Given the description of an element on the screen output the (x, y) to click on. 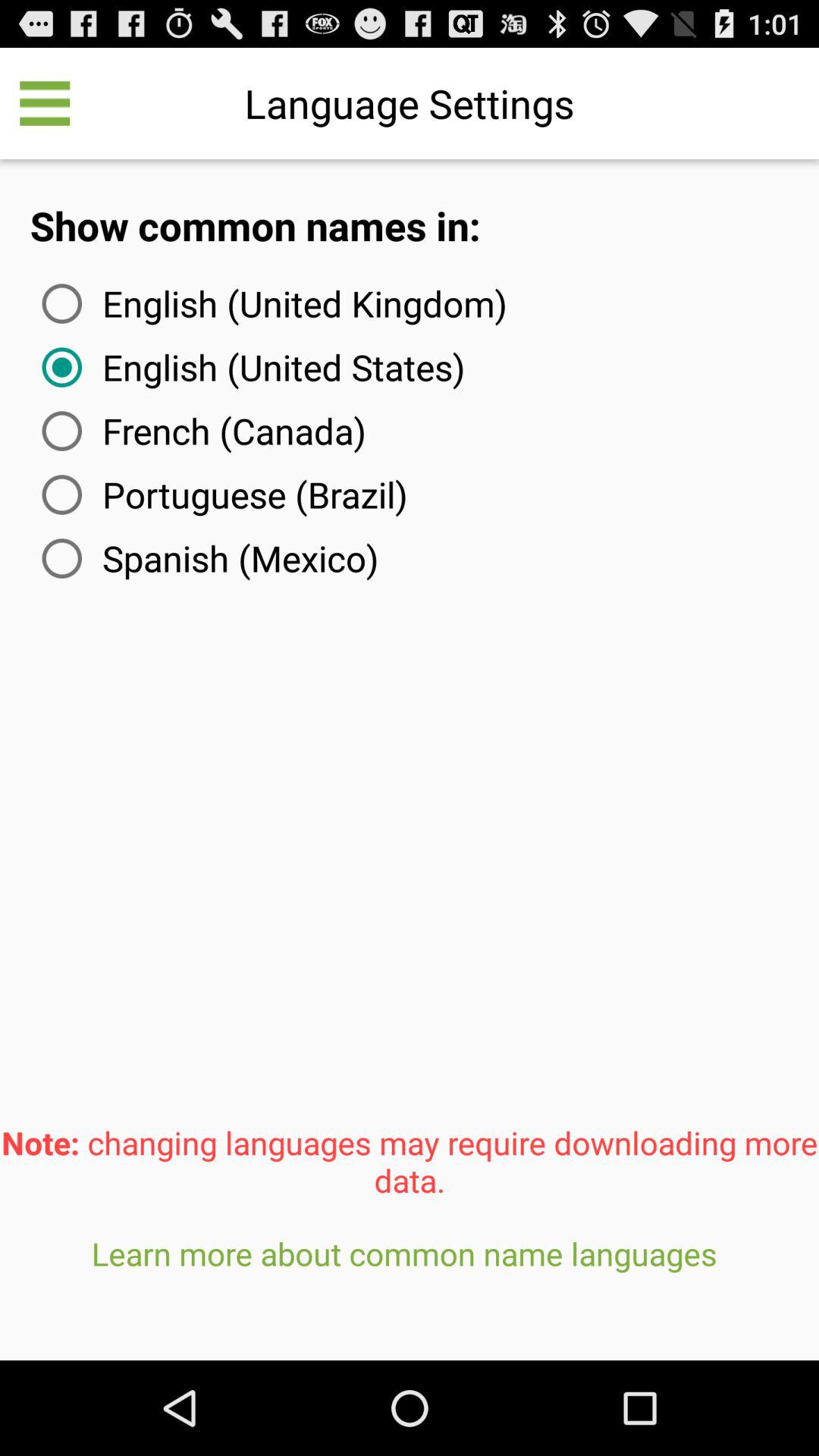
open the item above the note changing languages (207, 558)
